Given the description of an element on the screen output the (x, y) to click on. 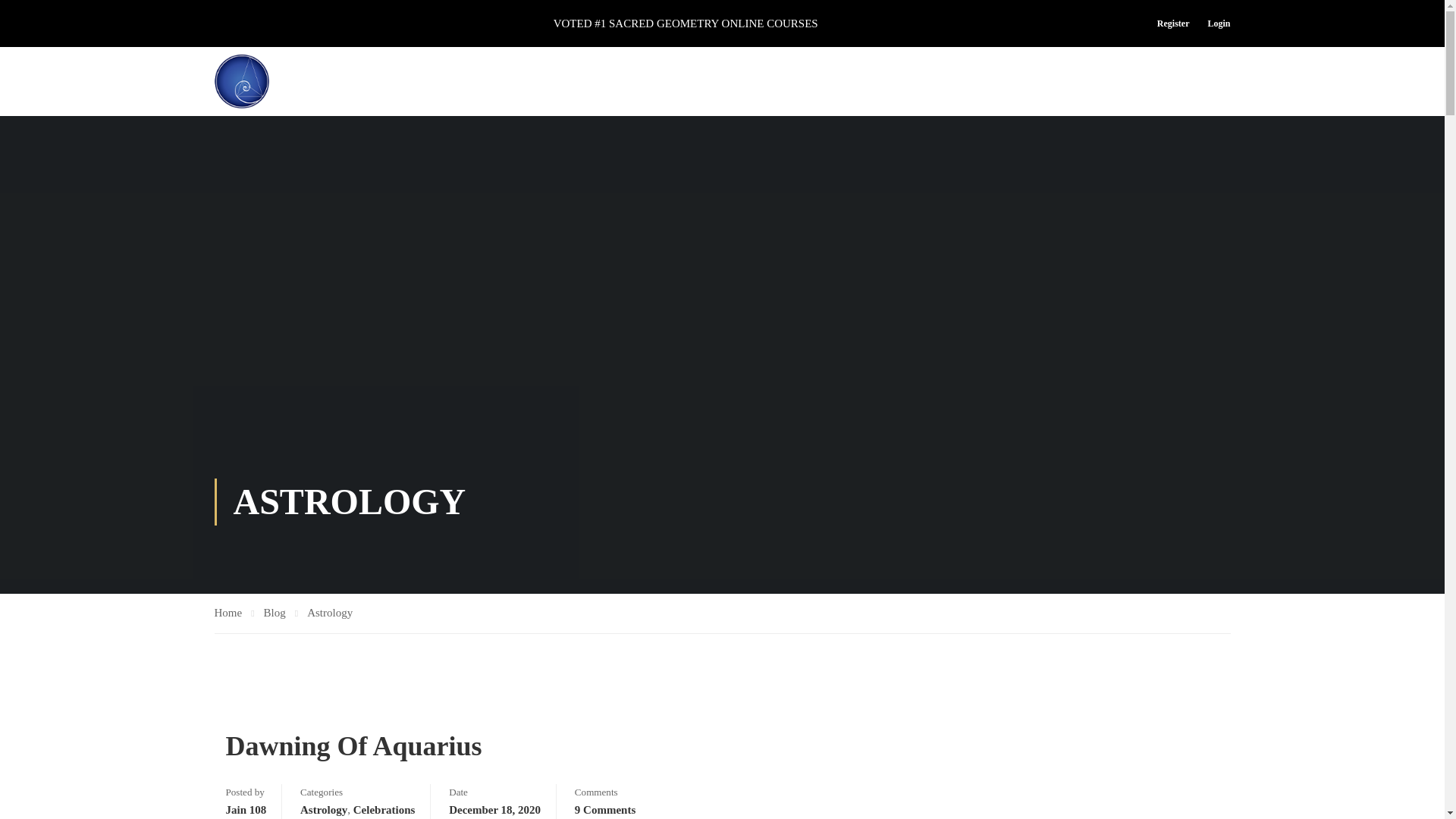
ABOUT (713, 81)
SHOP COURSES (807, 81)
Blog (280, 613)
Astrology (329, 612)
Astrology (323, 809)
9 Comments (604, 809)
SHOP BOOKS (918, 81)
Jain 108 (245, 809)
RESEARCH CENTER (1043, 81)
Login (1214, 23)
